Given the description of an element on the screen output the (x, y) to click on. 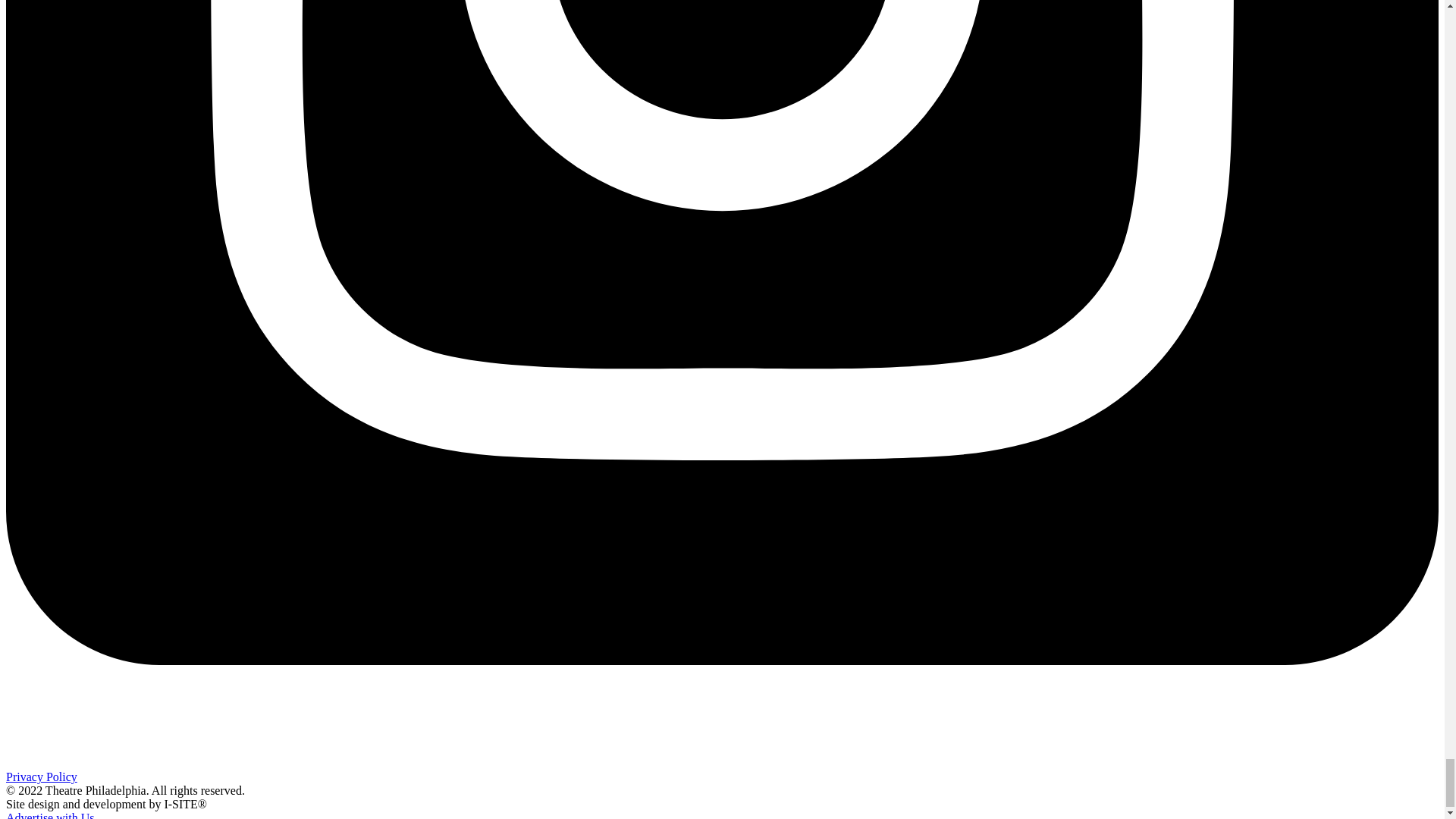
Privacy Policy (41, 776)
